Given the description of an element on the screen output the (x, y) to click on. 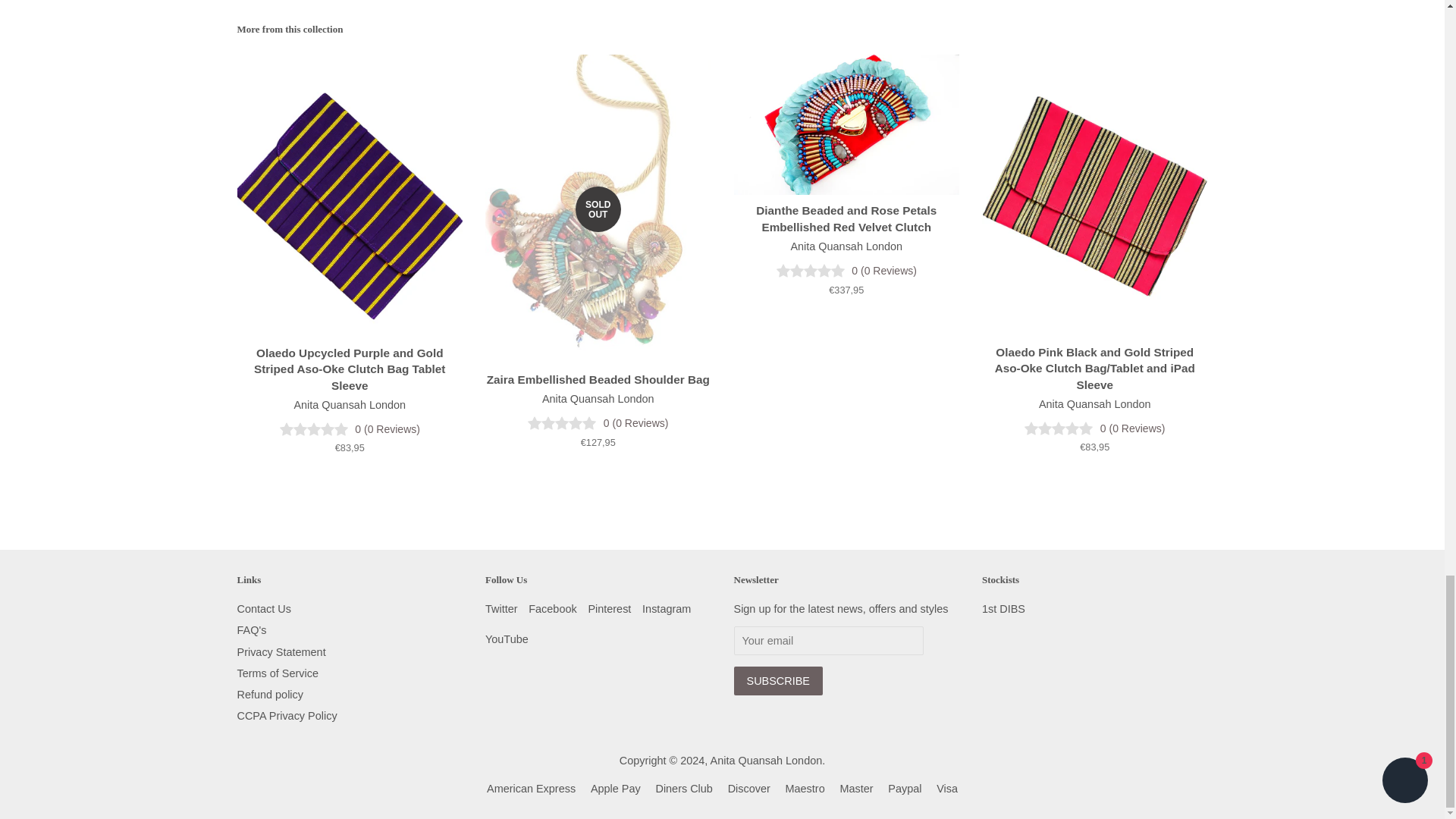
Anita Quansah London on YouTube (506, 639)
Anita Quansah London on Instagram (666, 608)
Anita Quansah London on Facebook (552, 608)
Subscribe (777, 681)
Anita Quansah London on Pinterest (609, 608)
Anita Quansah London on Twitter (501, 608)
